Given the description of an element on the screen output the (x, y) to click on. 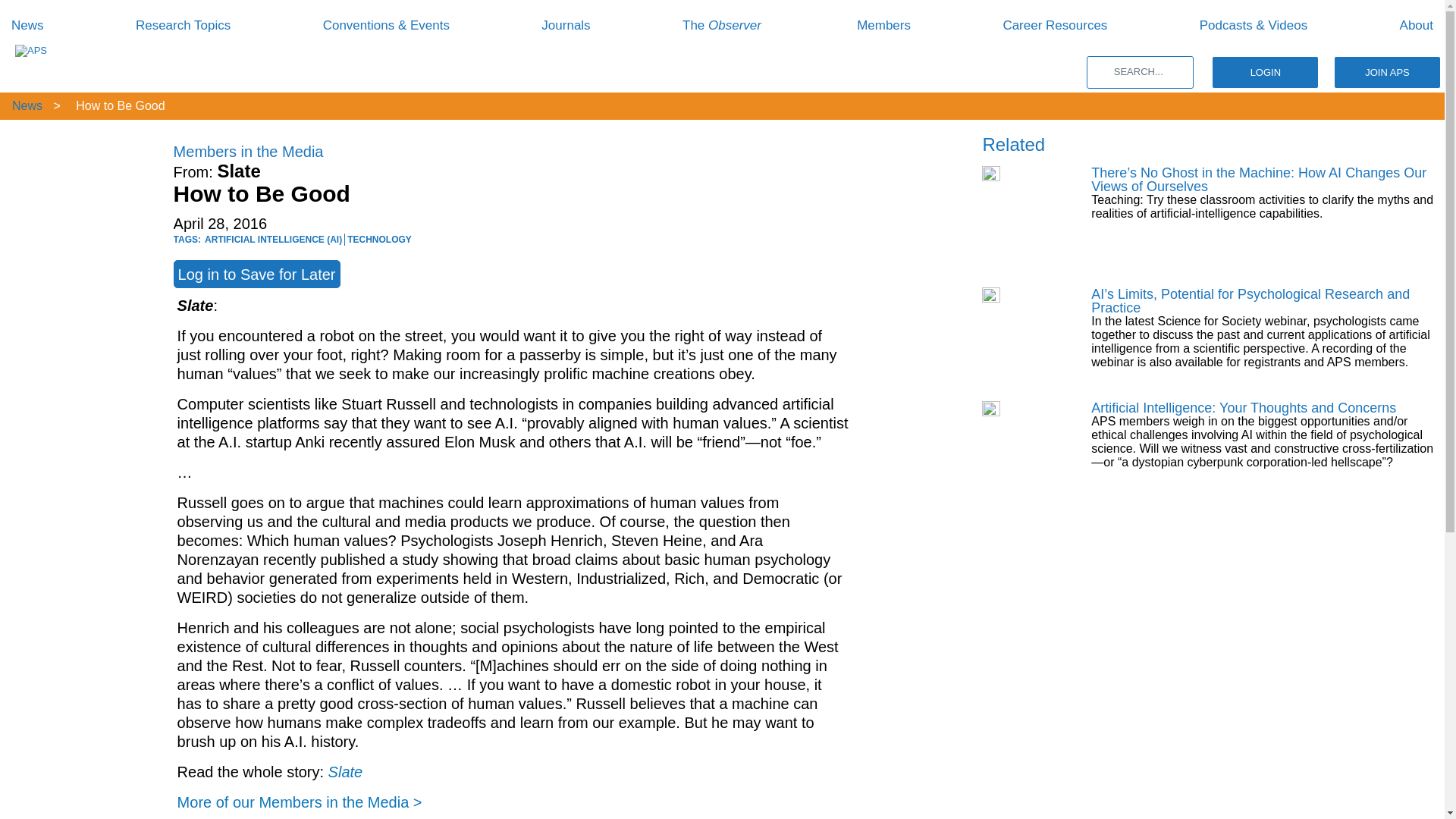
Related (1013, 144)
Members (884, 25)
The Observer  (723, 25)
Career Resources (1054, 25)
Go to the News category archives. (25, 105)
News (27, 25)
About (1415, 25)
Research Topics (182, 25)
Journals (565, 25)
